Given the description of an element on the screen output the (x, y) to click on. 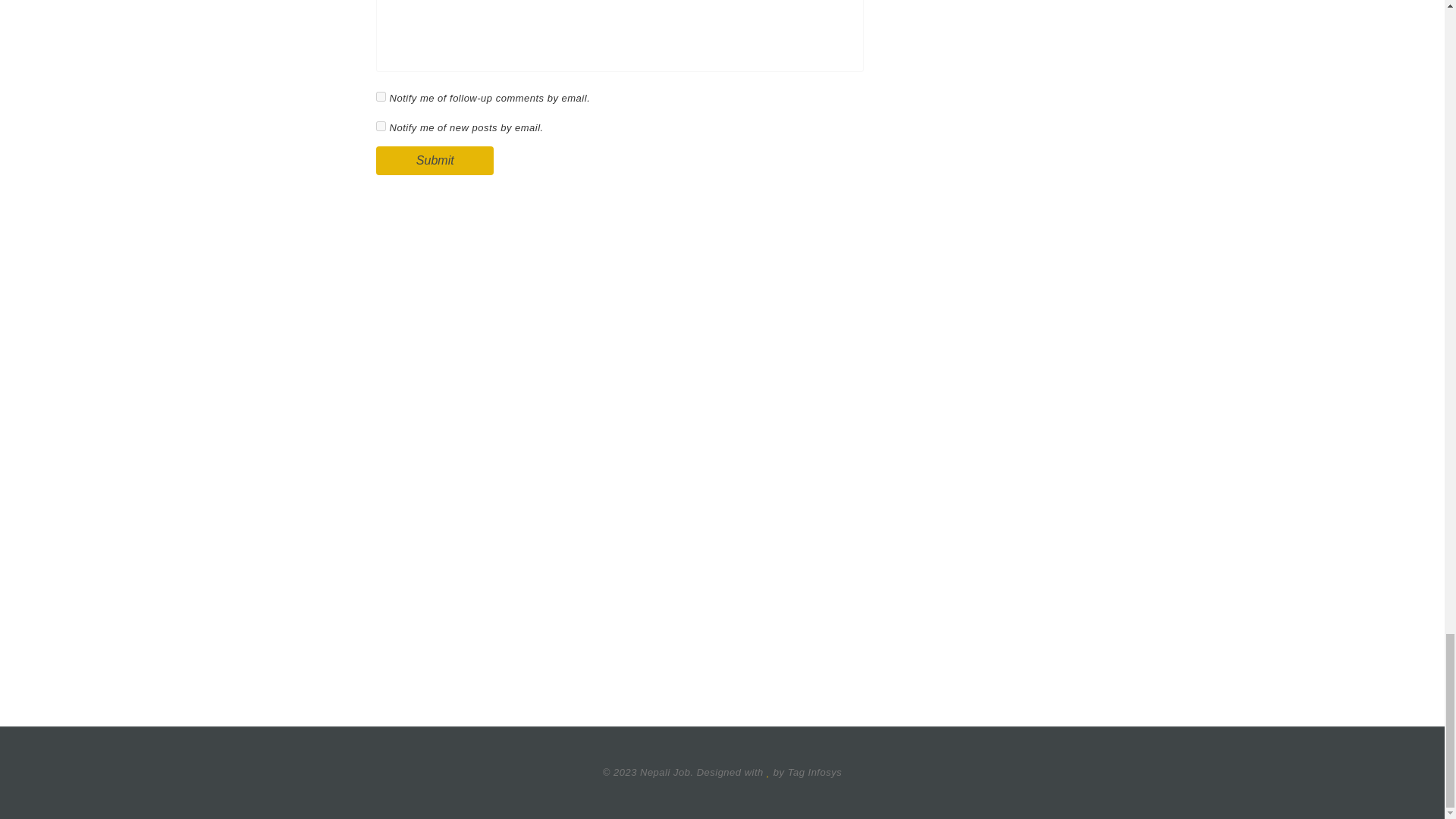
Submit (434, 160)
Submit (434, 160)
subscribe (380, 126)
subscribe (380, 96)
